Given the description of an element on the screen output the (x, y) to click on. 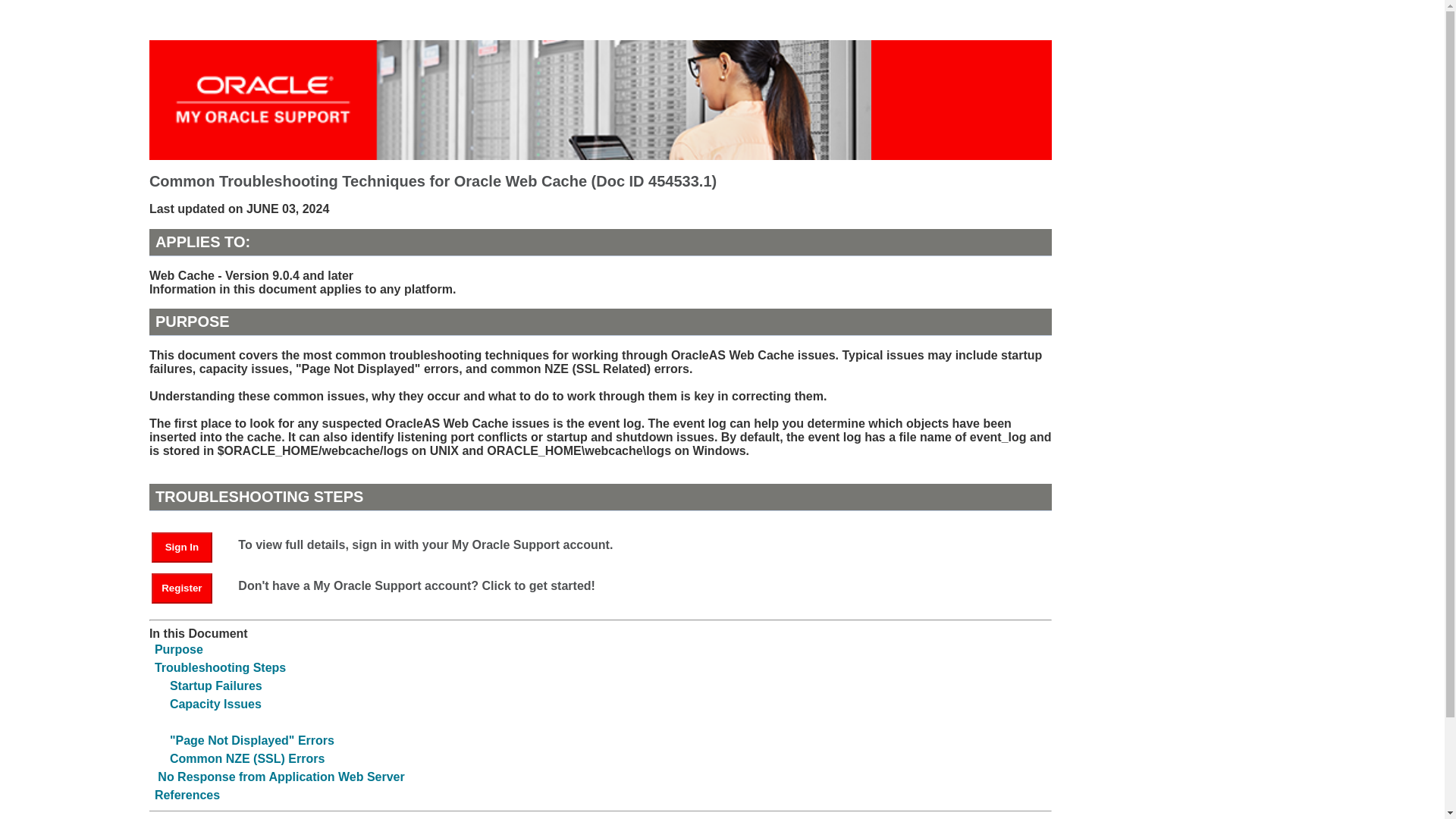
Purpose (178, 649)
Sign In (189, 545)
Register (189, 586)
Troubleshooting Steps (219, 667)
Startup Failures (216, 685)
Sign In (181, 547)
No Response from Application Web Server (280, 776)
Register (181, 588)
Capacity Issues (216, 703)
References (186, 794)
"Page Not Displayed" Errors (252, 739)
